Given the description of an element on the screen output the (x, y) to click on. 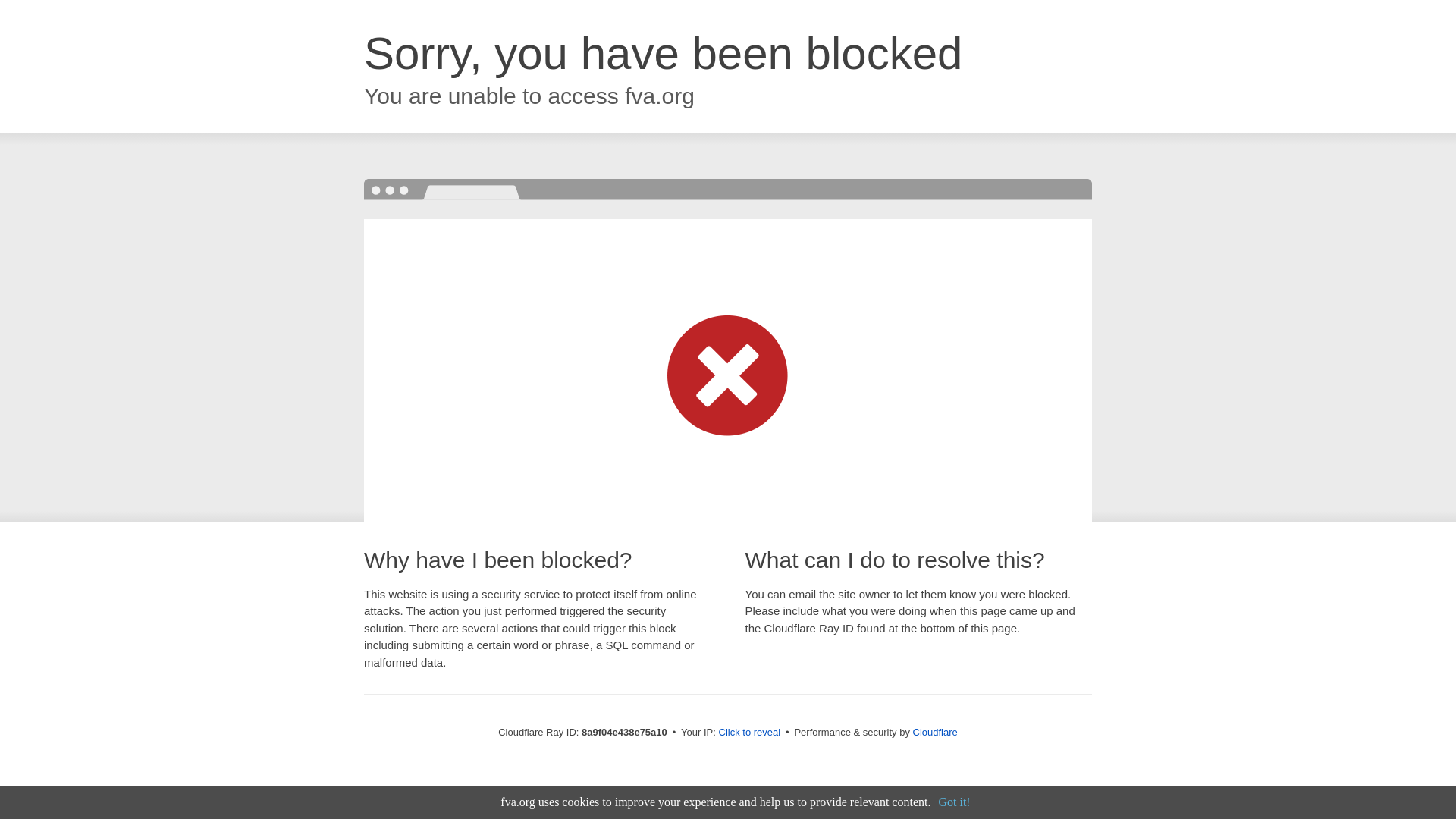
Click to reveal (749, 732)
Cloudflare (935, 731)
